Given the description of an element on the screen output the (x, y) to click on. 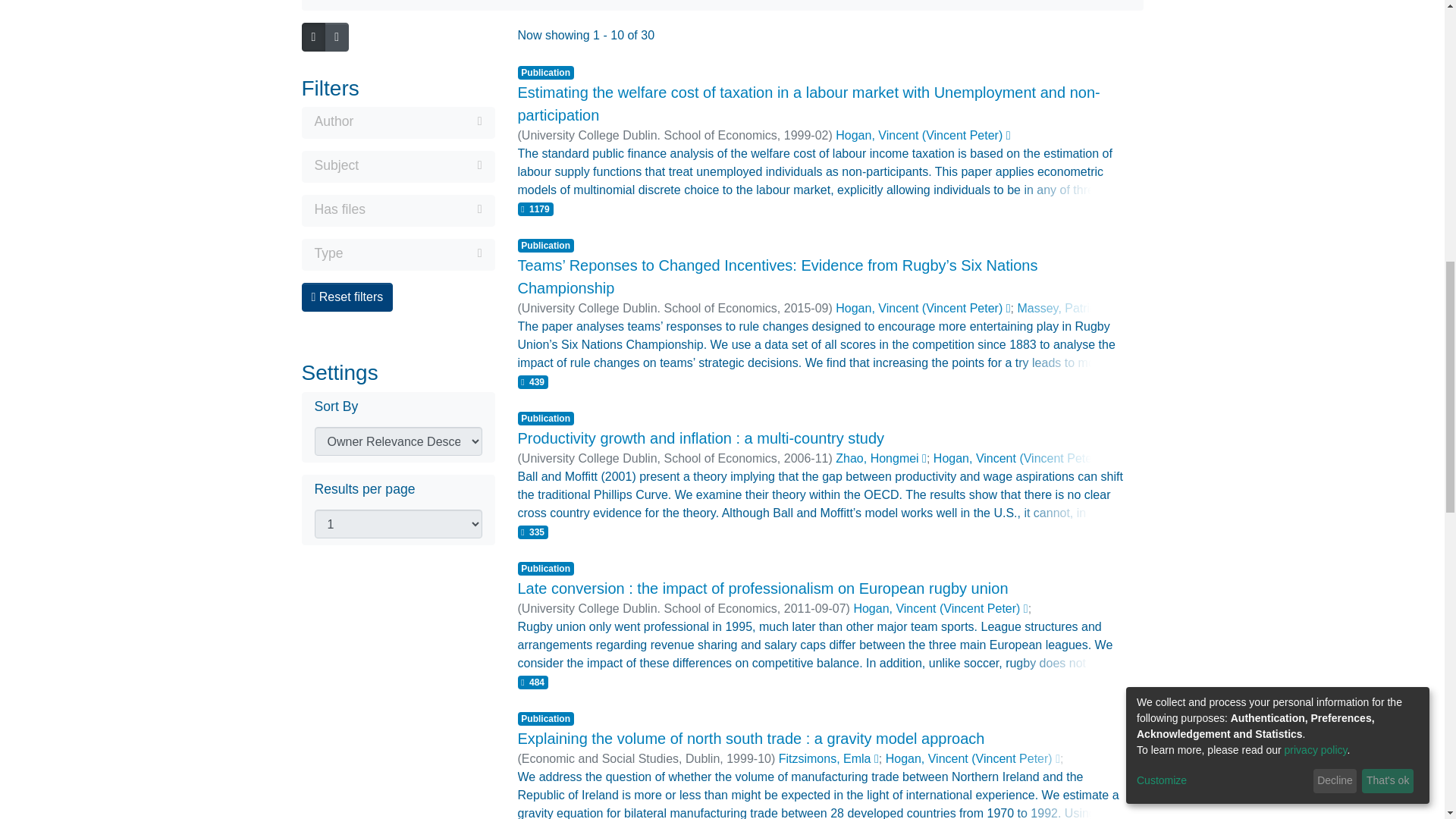
Author (397, 122)
Expand filter (417, 121)
Expand filter (419, 165)
Expand filter (412, 253)
Subject (397, 167)
Expand filter (423, 208)
